Given the description of an element on the screen output the (x, y) to click on. 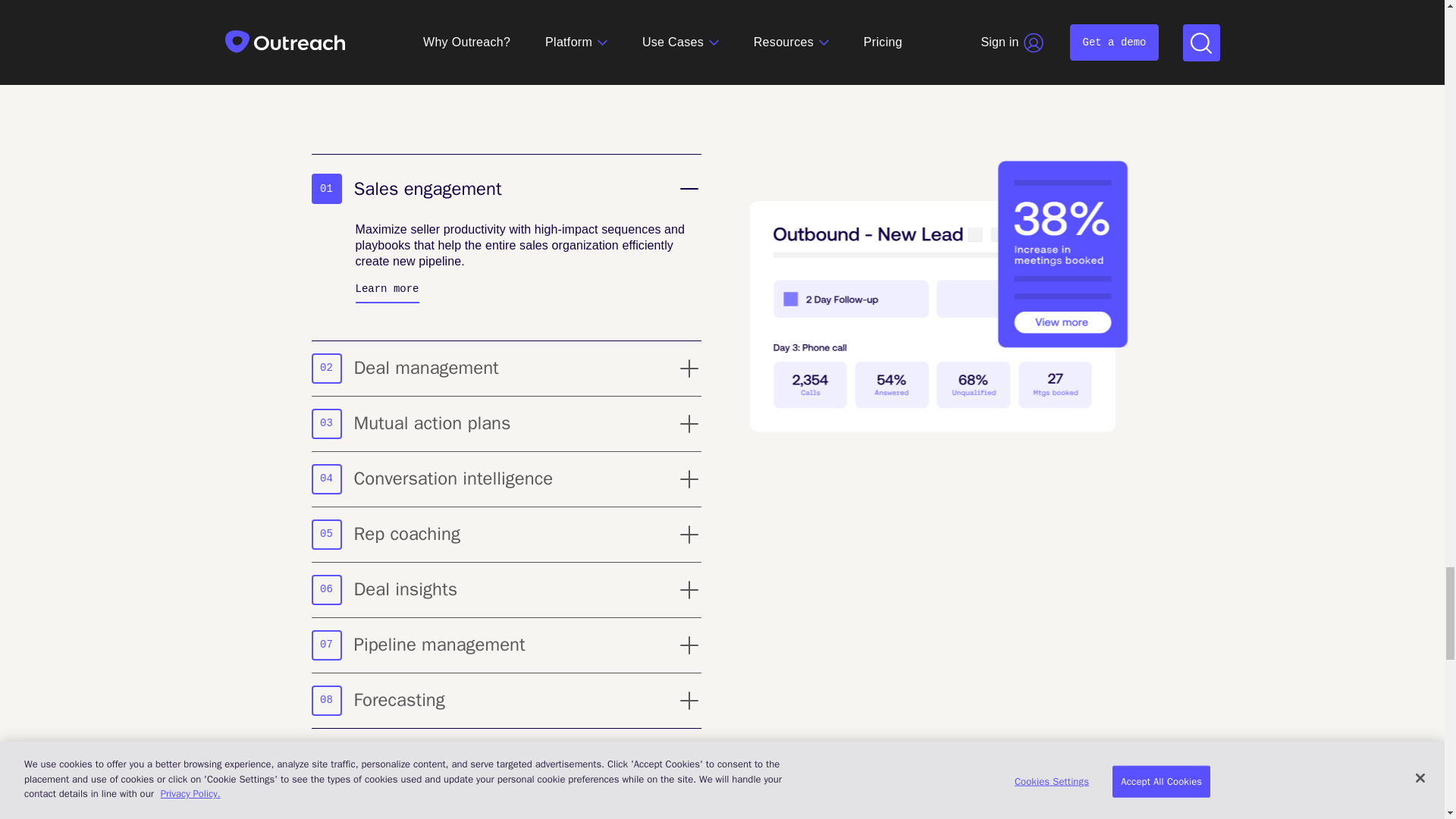
Learn more (505, 644)
